Given the description of an element on the screen output the (x, y) to click on. 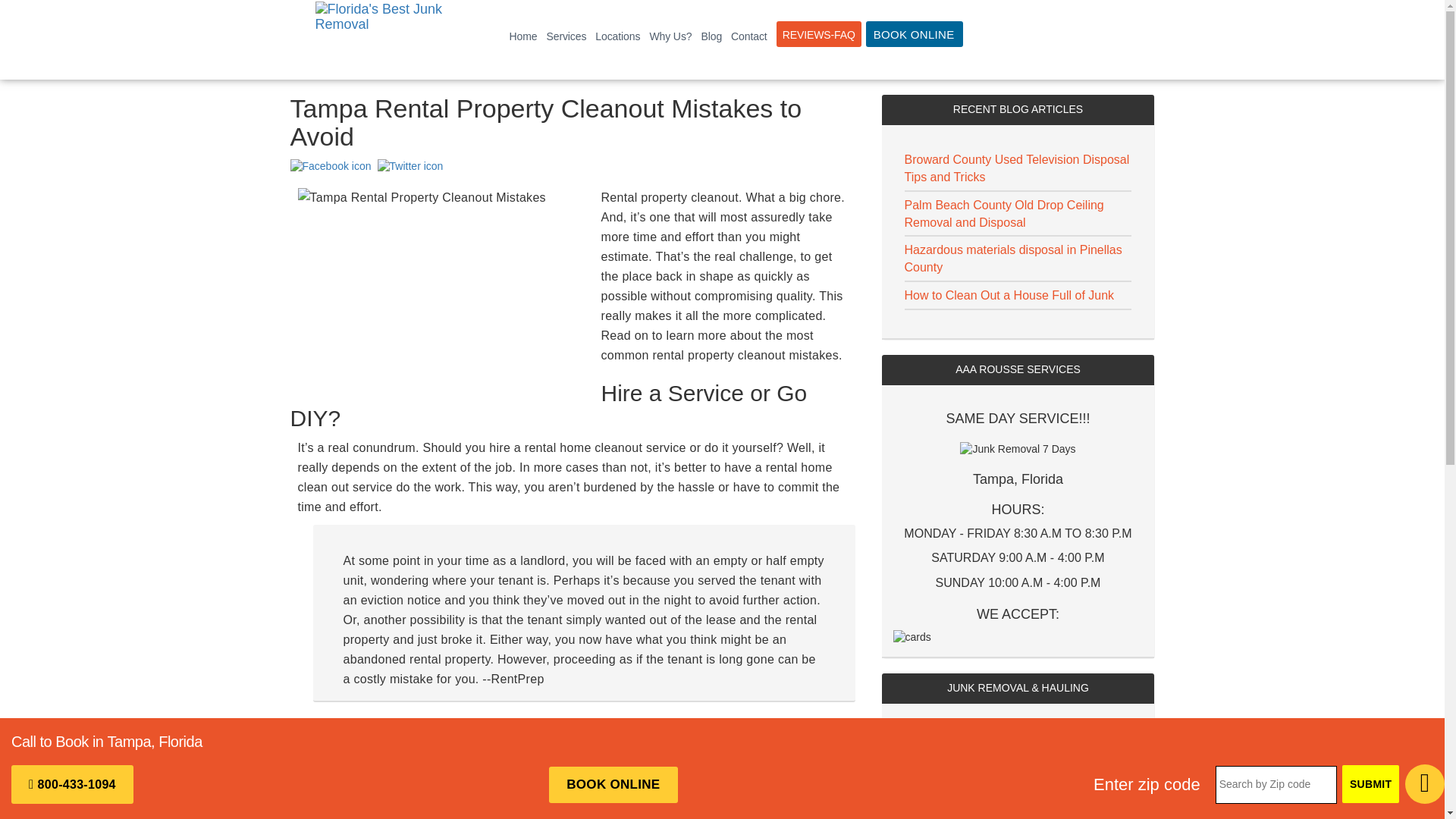
SUBMIT (1370, 783)
REVIEWS-FAQ (818, 33)
Broward County Used Television Disposal Tips and Tricks (1016, 168)
Blog (710, 36)
Why Us? (670, 36)
BOOK ONLINE (914, 33)
Contact (748, 36)
Services (566, 36)
Florida's Best Junk Removal (383, 39)
How to Clean Out a House Full of Junk (1008, 295)
